Given the description of an element on the screen output the (x, y) to click on. 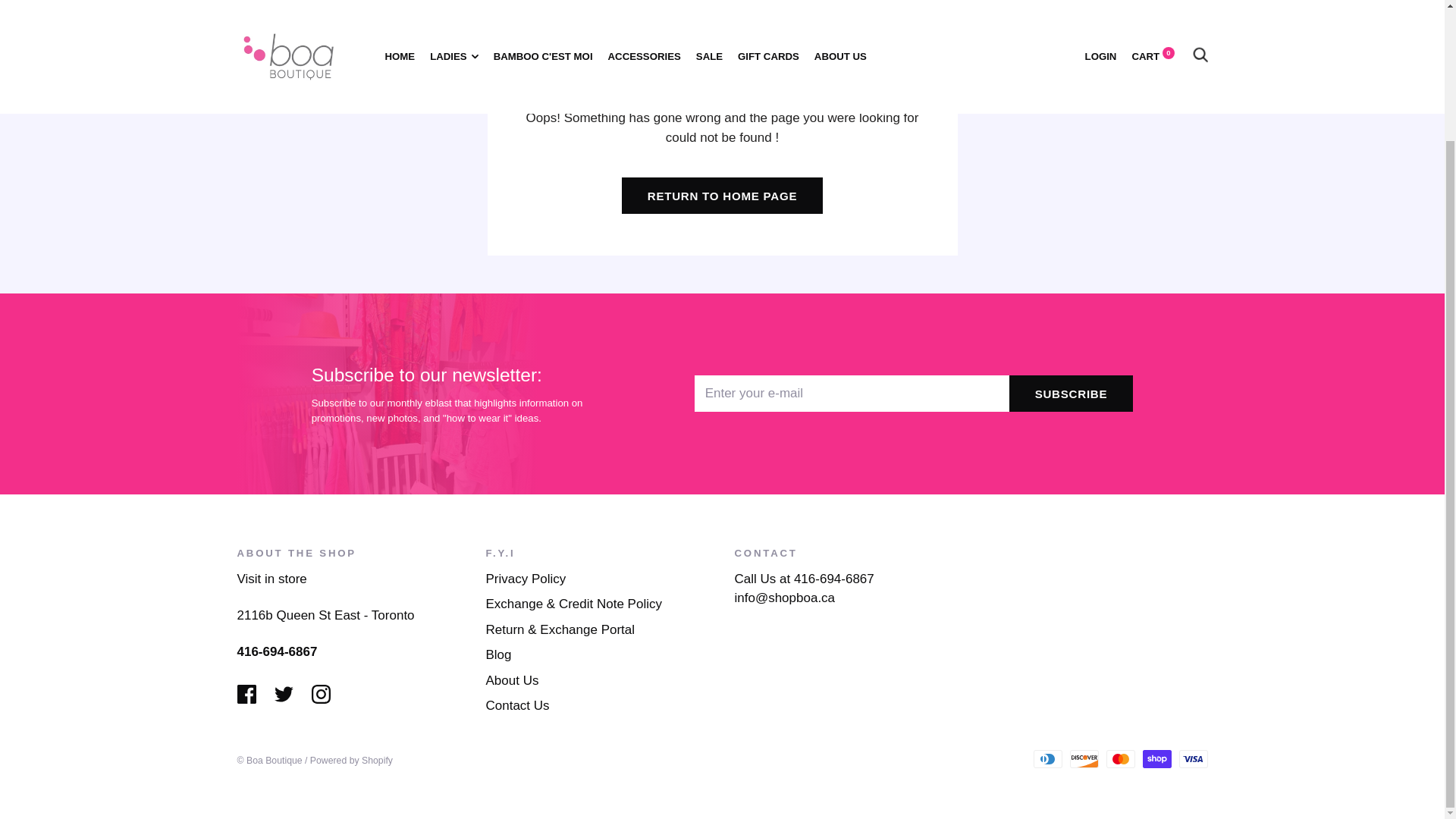
Subscribe (1071, 393)
Twitter (284, 693)
Discover (1082, 758)
Diners Club (1046, 758)
Facebook (245, 693)
Visa (1192, 758)
Instagram (320, 693)
Mastercard (1119, 758)
Shop Pay (1155, 758)
